Given the description of an element on the screen output the (x, y) to click on. 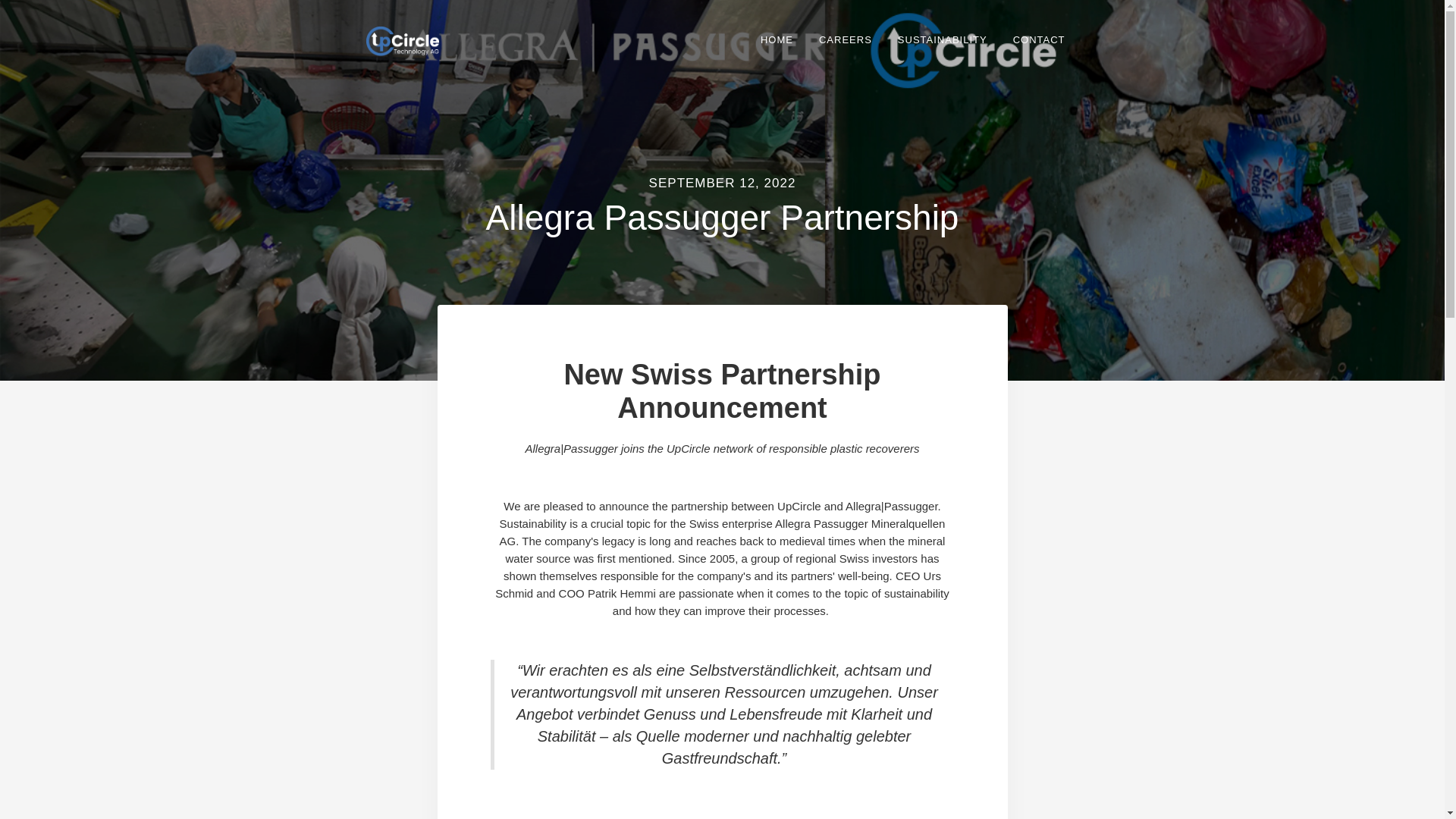
SUSTAINABILITY (941, 39)
CONTACT (1039, 39)
CAREERS (844, 39)
HOME (776, 39)
